Given the description of an element on the screen output the (x, y) to click on. 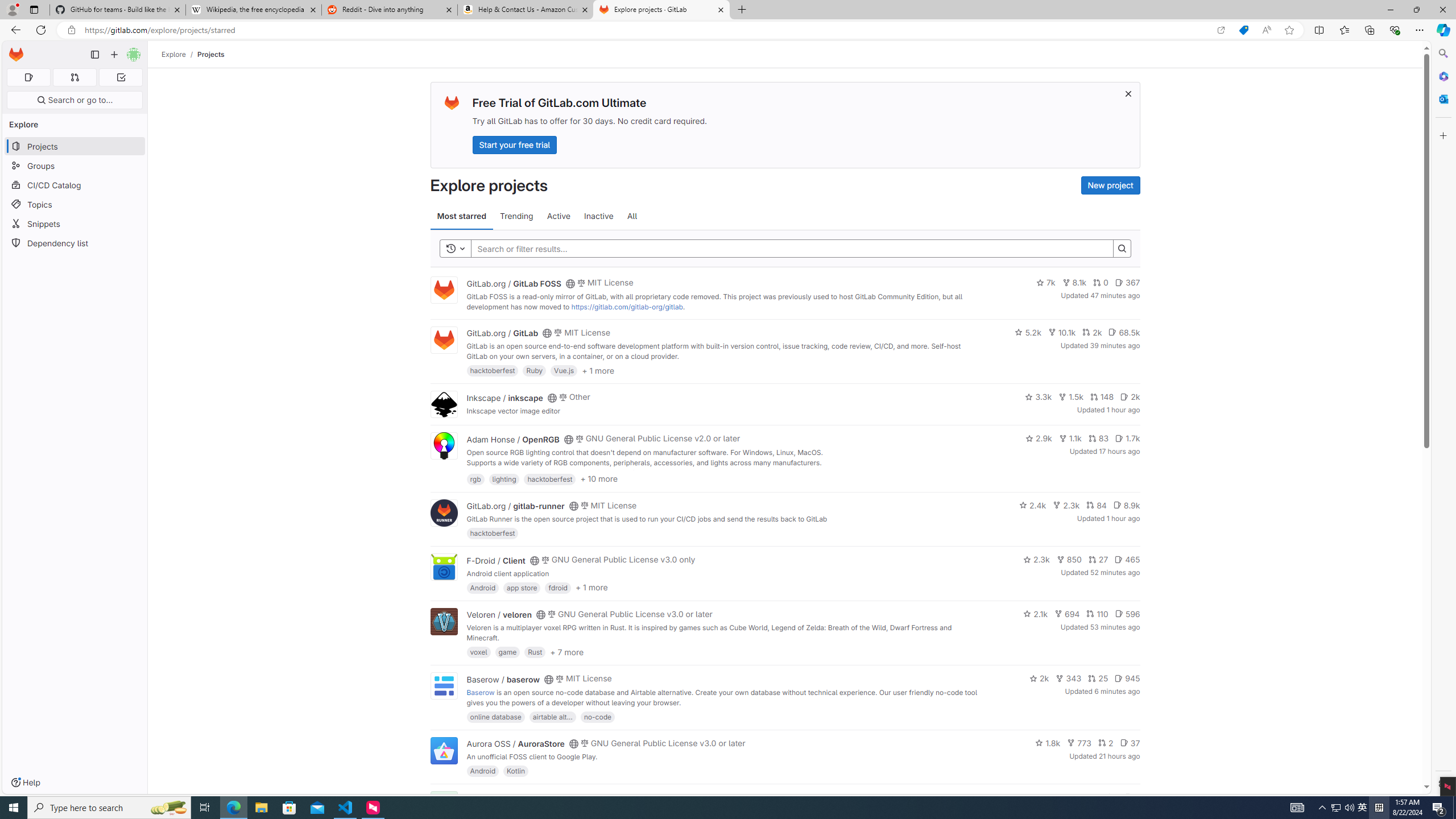
voxel (478, 651)
F (443, 805)
850 (1068, 559)
Aurora OSS / AuroraStore (514, 743)
694 (1067, 613)
465 (1127, 559)
143 (1085, 797)
Projects (211, 53)
1.5k (1070, 396)
1.7k (1127, 438)
